Given the description of an element on the screen output the (x, y) to click on. 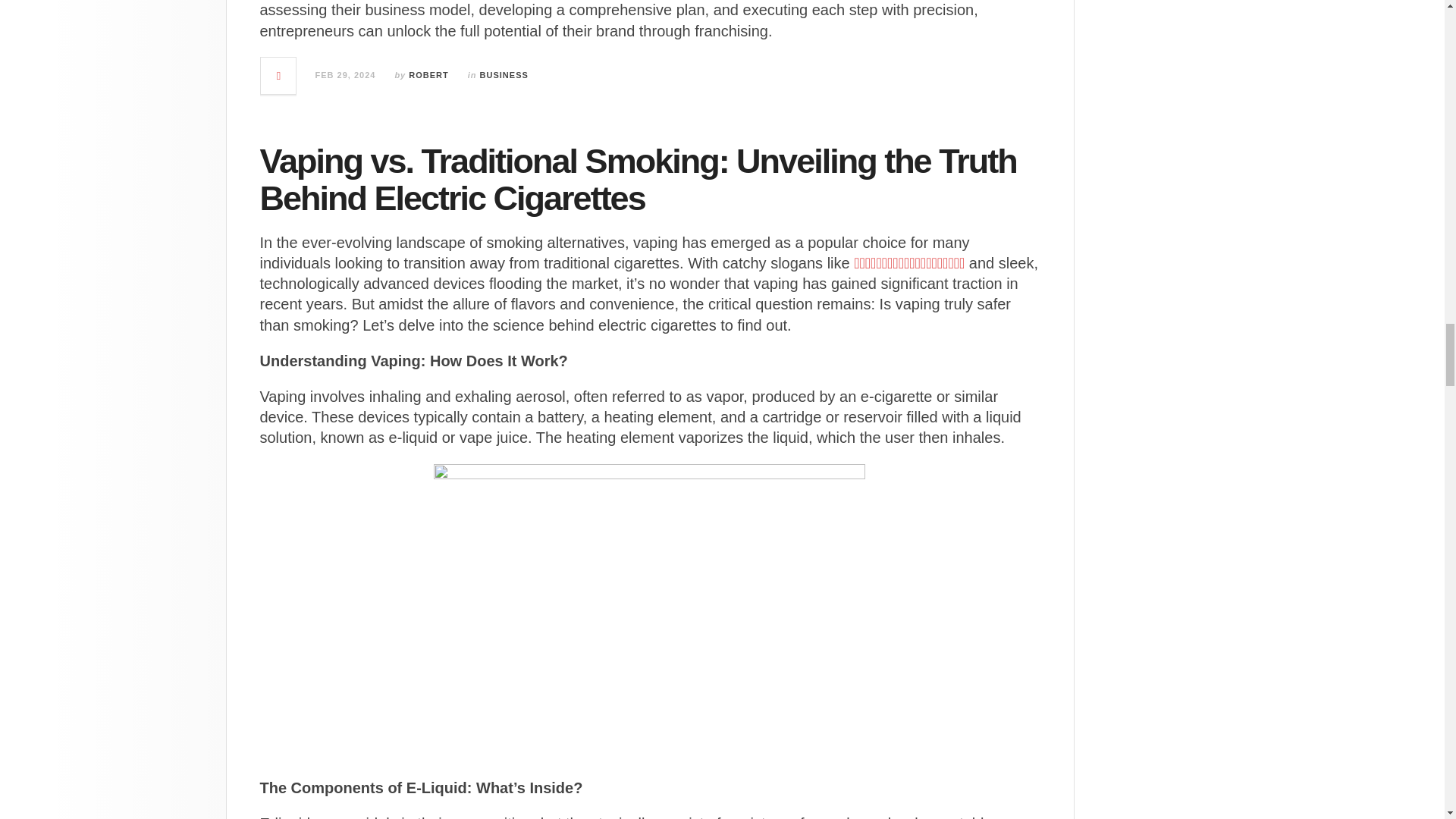
Posts by Robert (428, 74)
Read More... (278, 75)
View all posts in Business (504, 74)
